Given the description of an element on the screen output the (x, y) to click on. 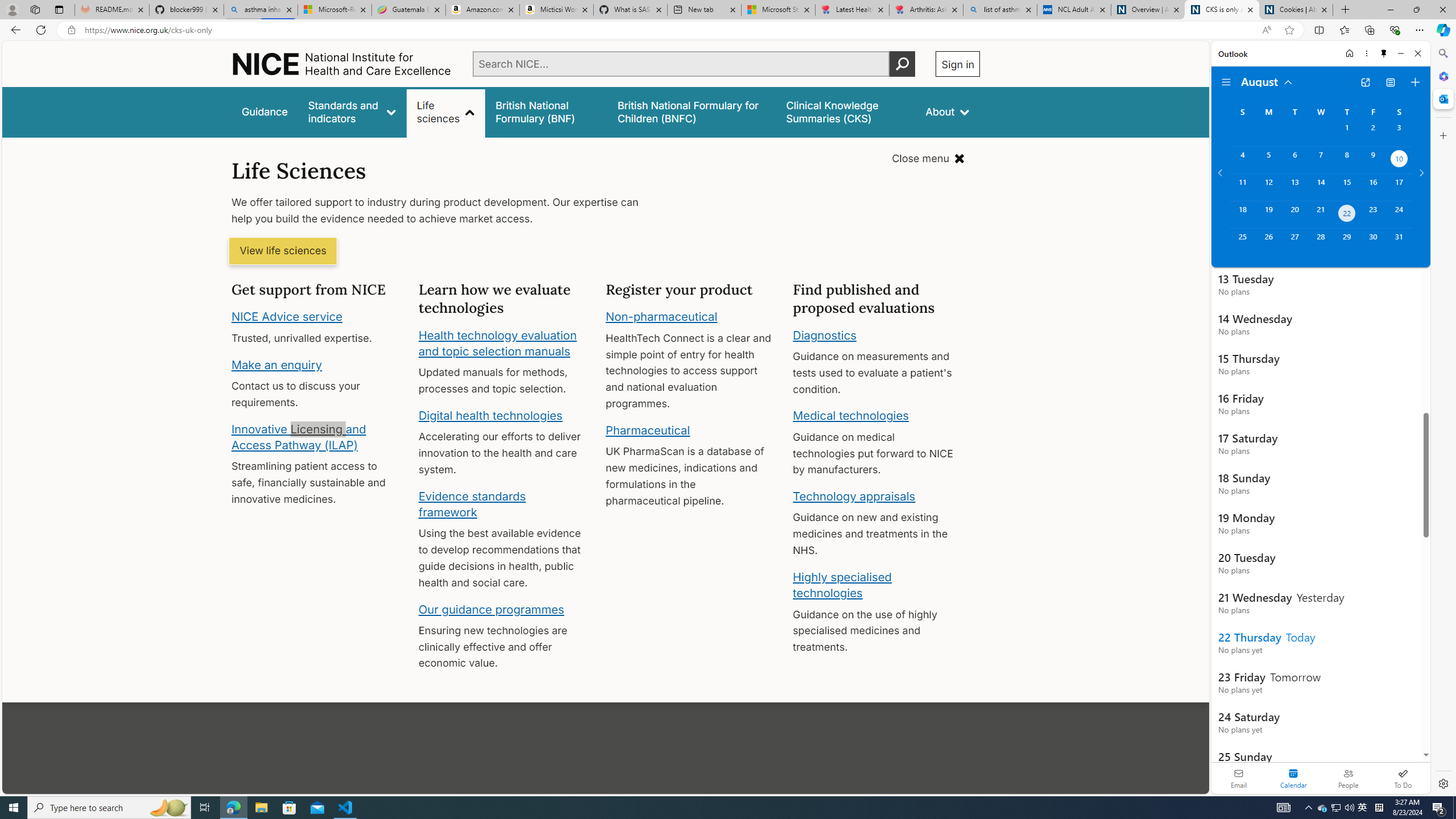
Unpin side pane (1383, 53)
Highly specialised technologies (842, 584)
Health technology evaluation and topic selection manuals (496, 342)
Tuesday, August 20, 2024.  (1294, 214)
About (947, 111)
Home (1348, 53)
Make an enquiry (276, 364)
Pharmaceutical (647, 429)
Medical technologies (850, 415)
Life sciences (446, 111)
